Given the description of an element on the screen output the (x, y) to click on. 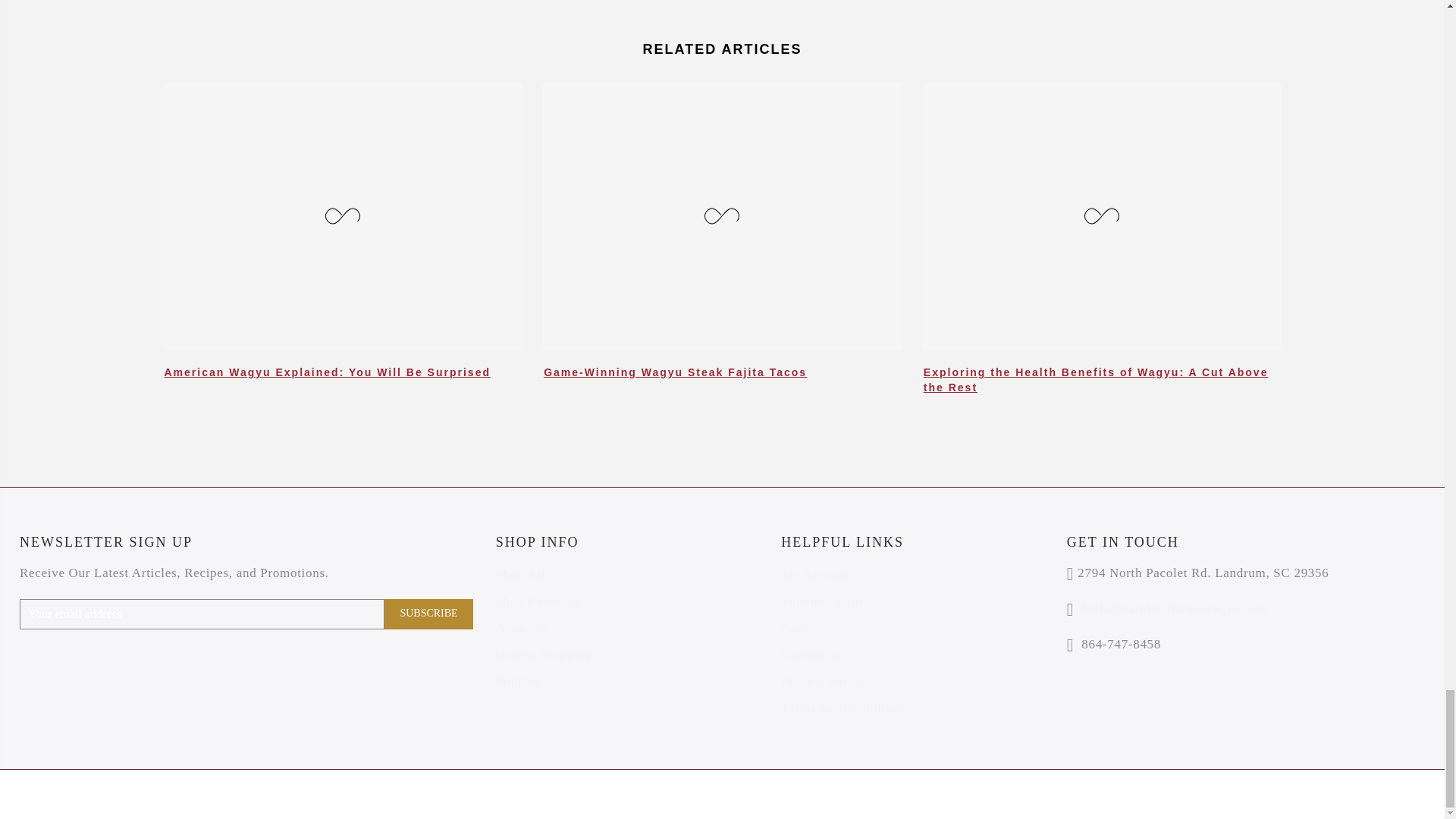
American Wagyu Explained: You Will Be Surprised (326, 372)
Exploring the Health Benefits of Wagyu: A Cut Above the Rest (1095, 379)
Game-Winning Wagyu Steak Fajita Tacos (674, 372)
